Given the description of an element on the screen output the (x, y) to click on. 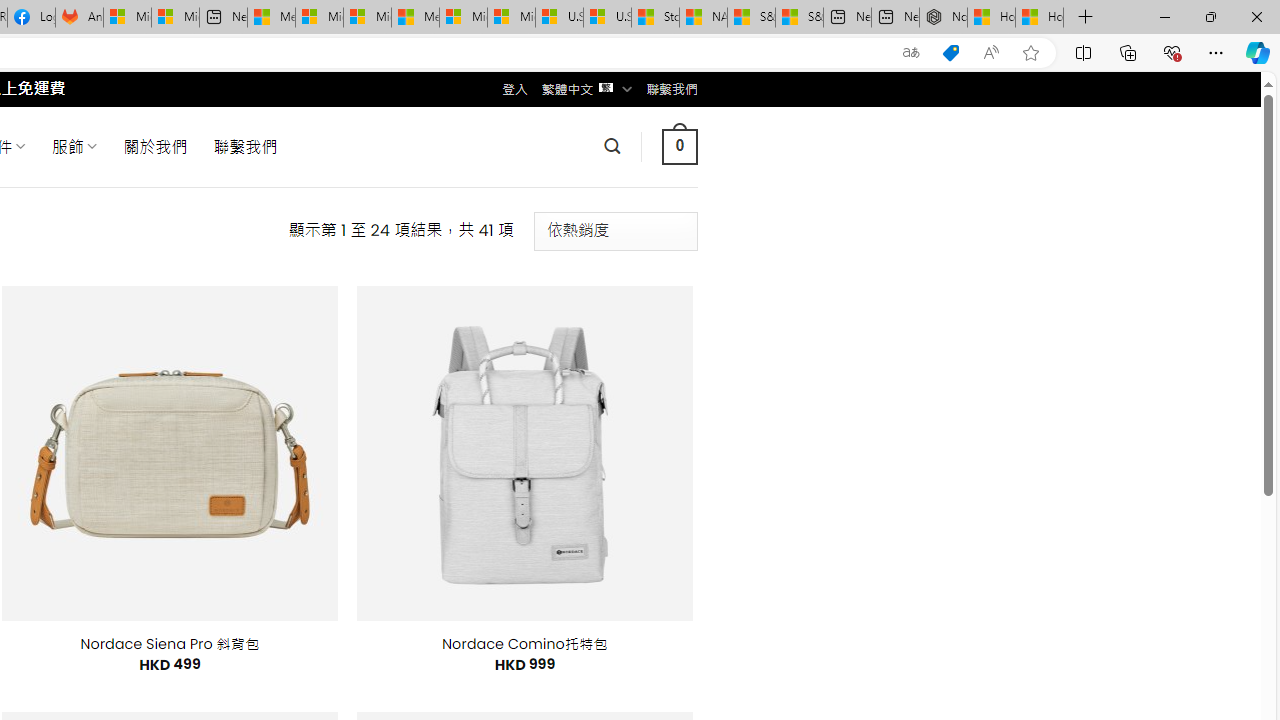
 0  (679, 146)
This site has coupons! Shopping in Microsoft Edge (950, 53)
